Given the description of an element on the screen output the (x, y) to click on. 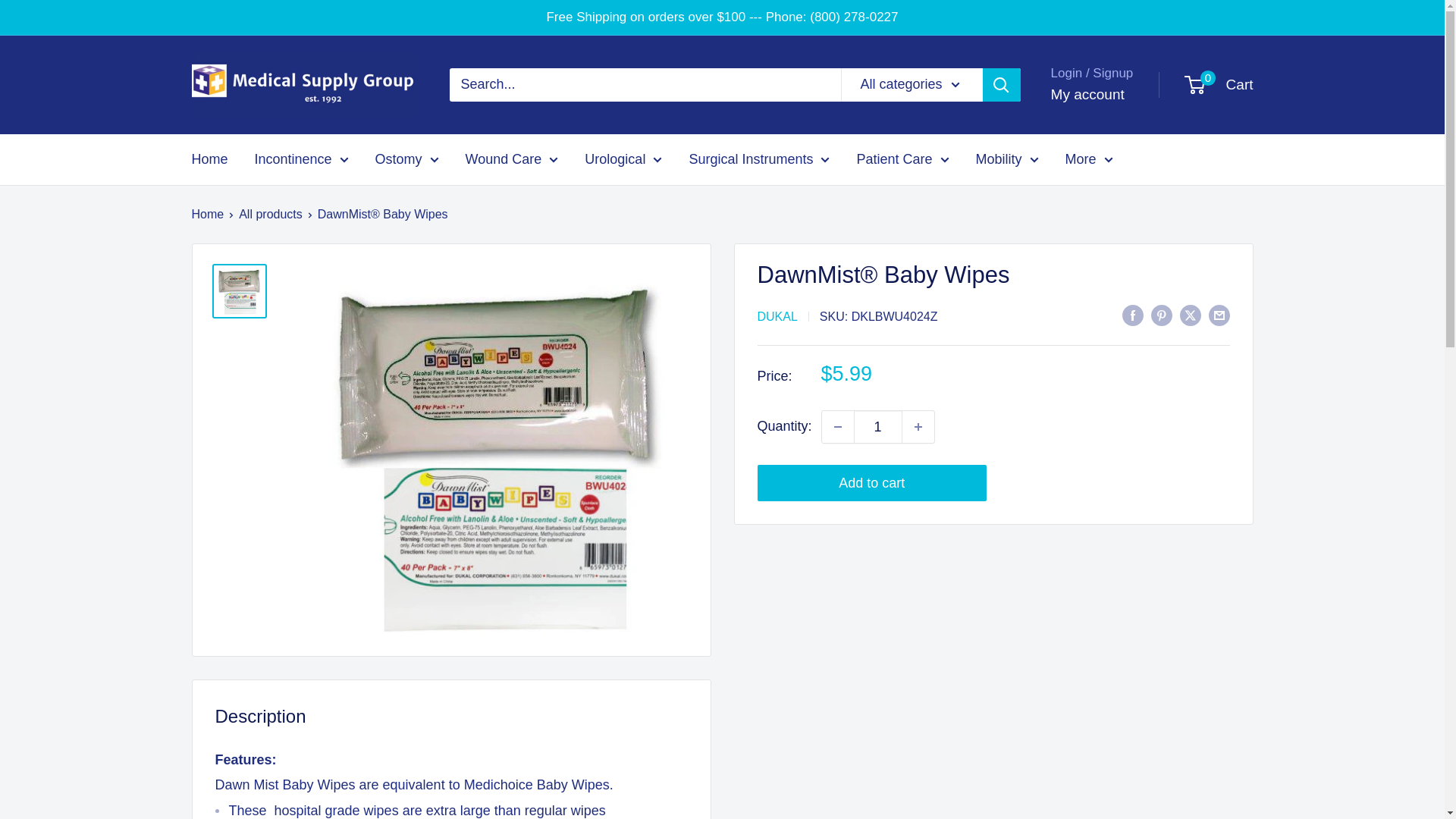
Increase quantity by 1 (918, 427)
Decrease quantity by 1 (837, 427)
1 (877, 427)
